Given the description of an element on the screen output the (x, y) to click on. 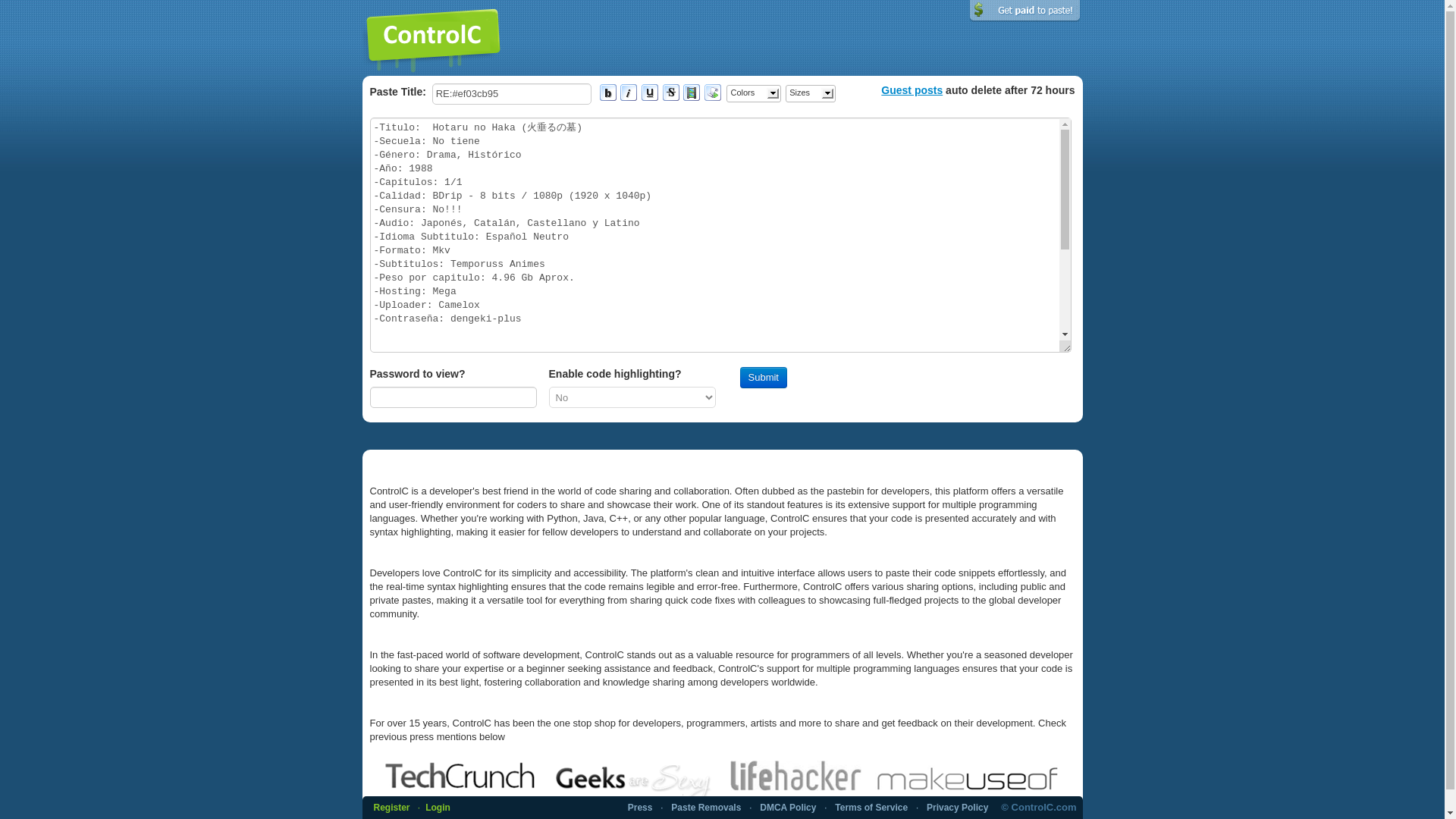
Wrap in code tags (712, 92)
Insert Video (691, 92)
Submit (763, 377)
Submit (763, 377)
Change Font Size (810, 93)
Change Color (753, 93)
Guest posts (911, 90)
